Given the description of an element on the screen output the (x, y) to click on. 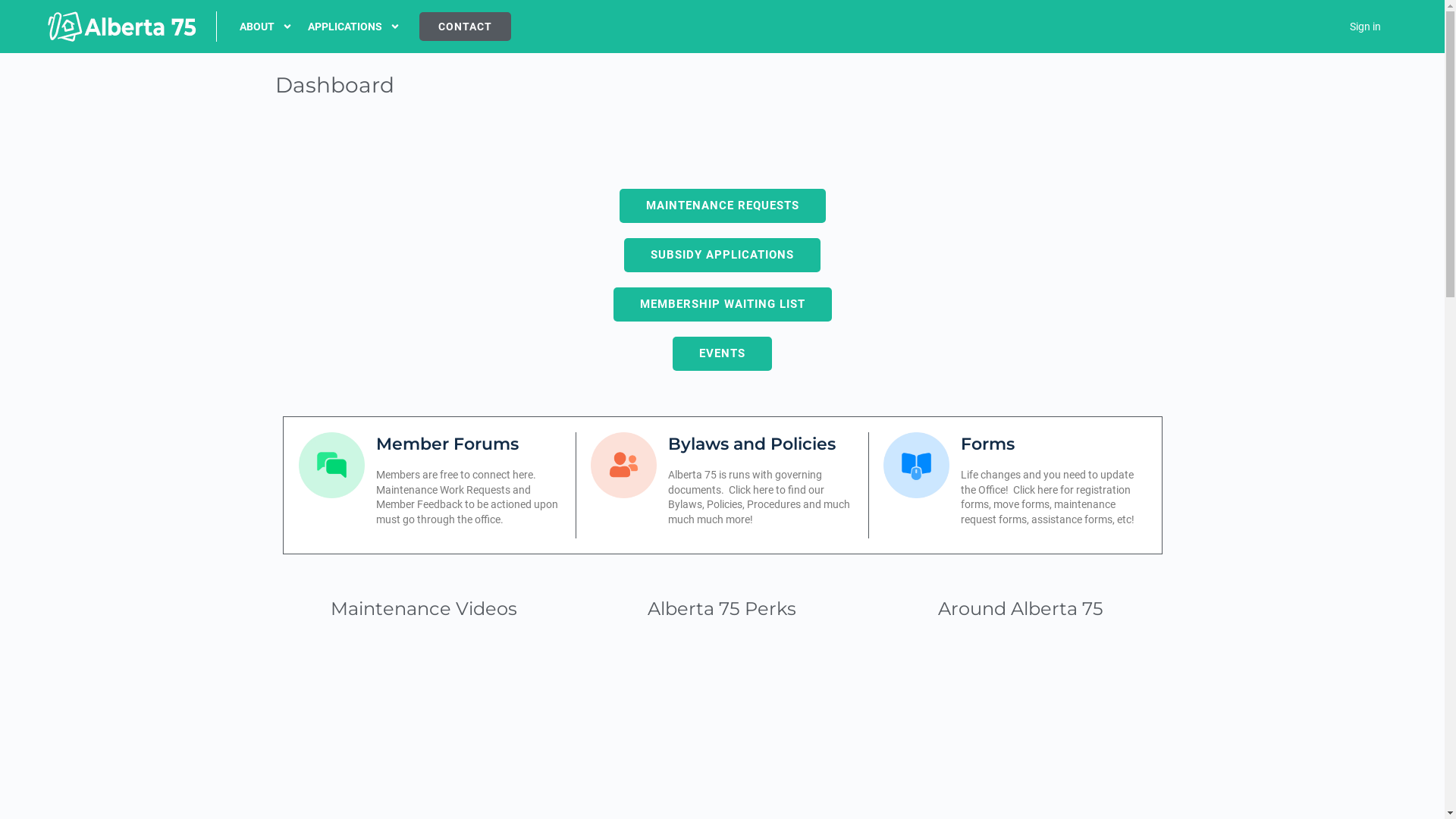
CONTACT Element type: text (465, 26)
Sign in Element type: text (1365, 26)
ABOUT Element type: text (266, 26)
SUBSIDY APPLICATIONS Element type: text (722, 255)
APPLICATIONS Element type: text (353, 26)
MEMBERSHIP WAITING LIST Element type: text (721, 304)
MAINTENANCE REQUESTS Element type: text (721, 205)
EVENTS Element type: text (721, 353)
